Given the description of an element on the screen output the (x, y) to click on. 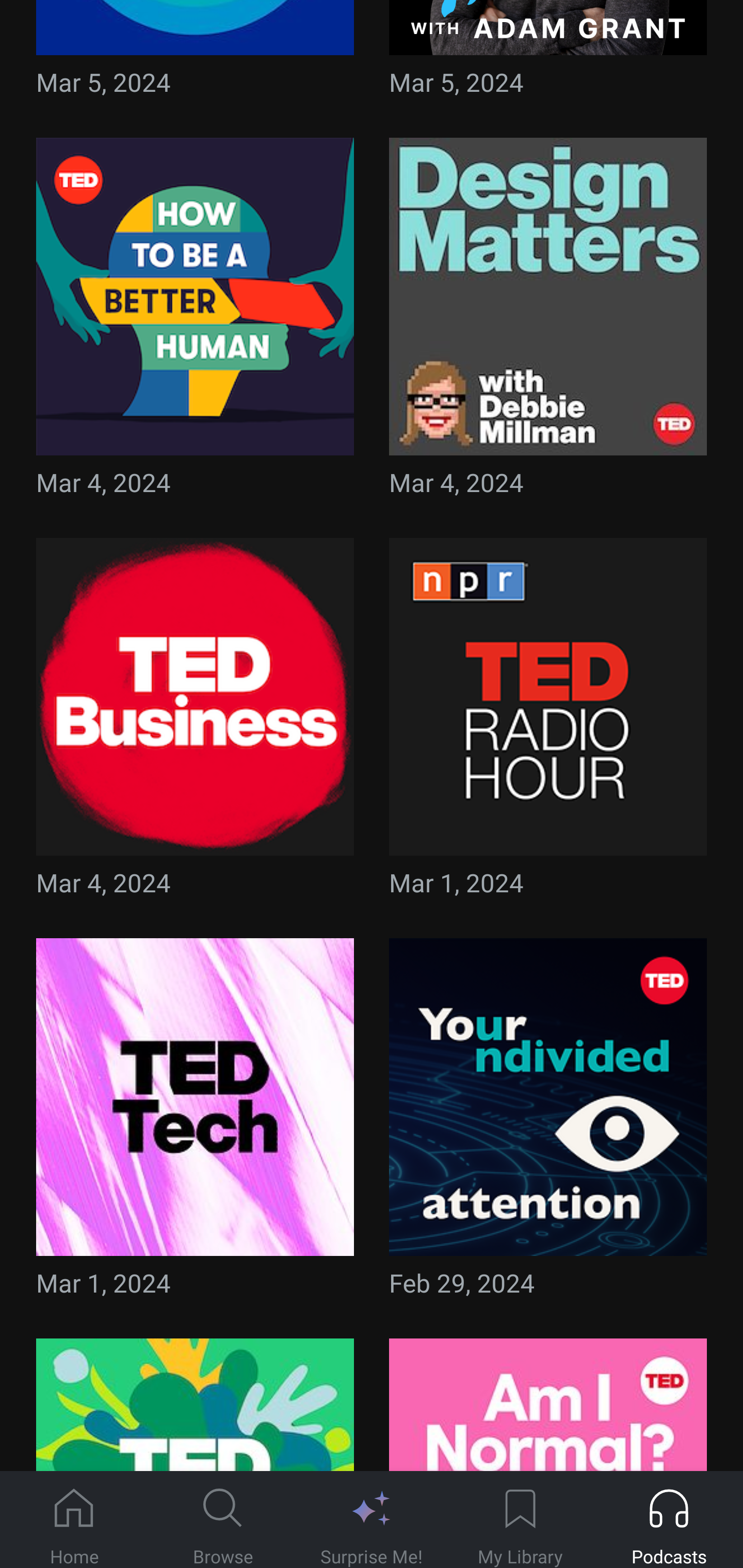
Mar 4, 2024 (194, 323)
Mar 4, 2024 (547, 323)
Mar 4, 2024 (194, 723)
Mar 1, 2024 (547, 723)
Mar 1, 2024 (194, 1123)
Feb 29, 2024 (547, 1123)
Home (74, 1520)
Browse (222, 1520)
Surprise Me! (371, 1520)
My Library (519, 1520)
Podcasts (668, 1520)
